Given the description of an element on the screen output the (x, y) to click on. 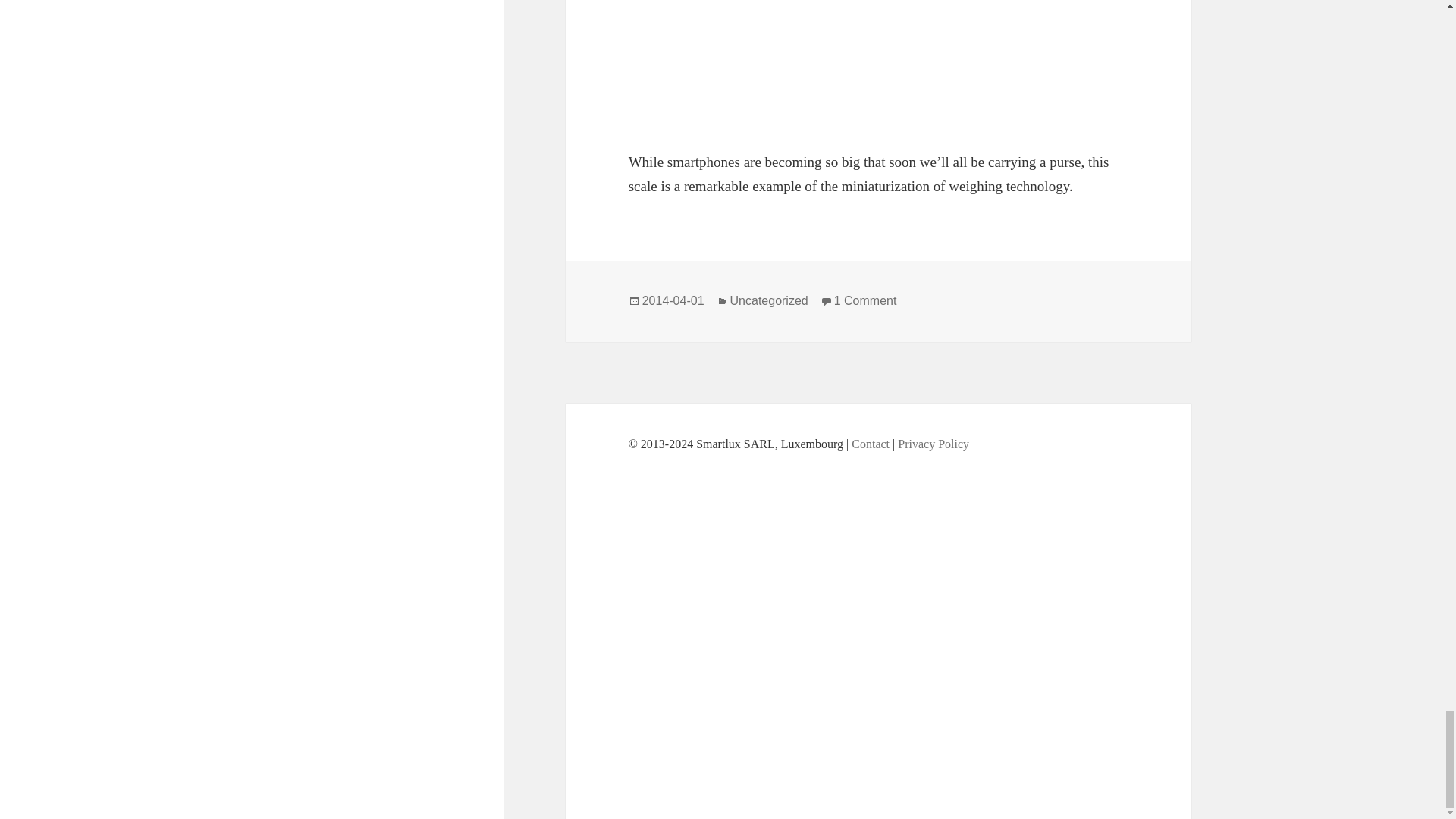
Real Time Web Analytics (878, 619)
